Given the description of an element on the screen output the (x, y) to click on. 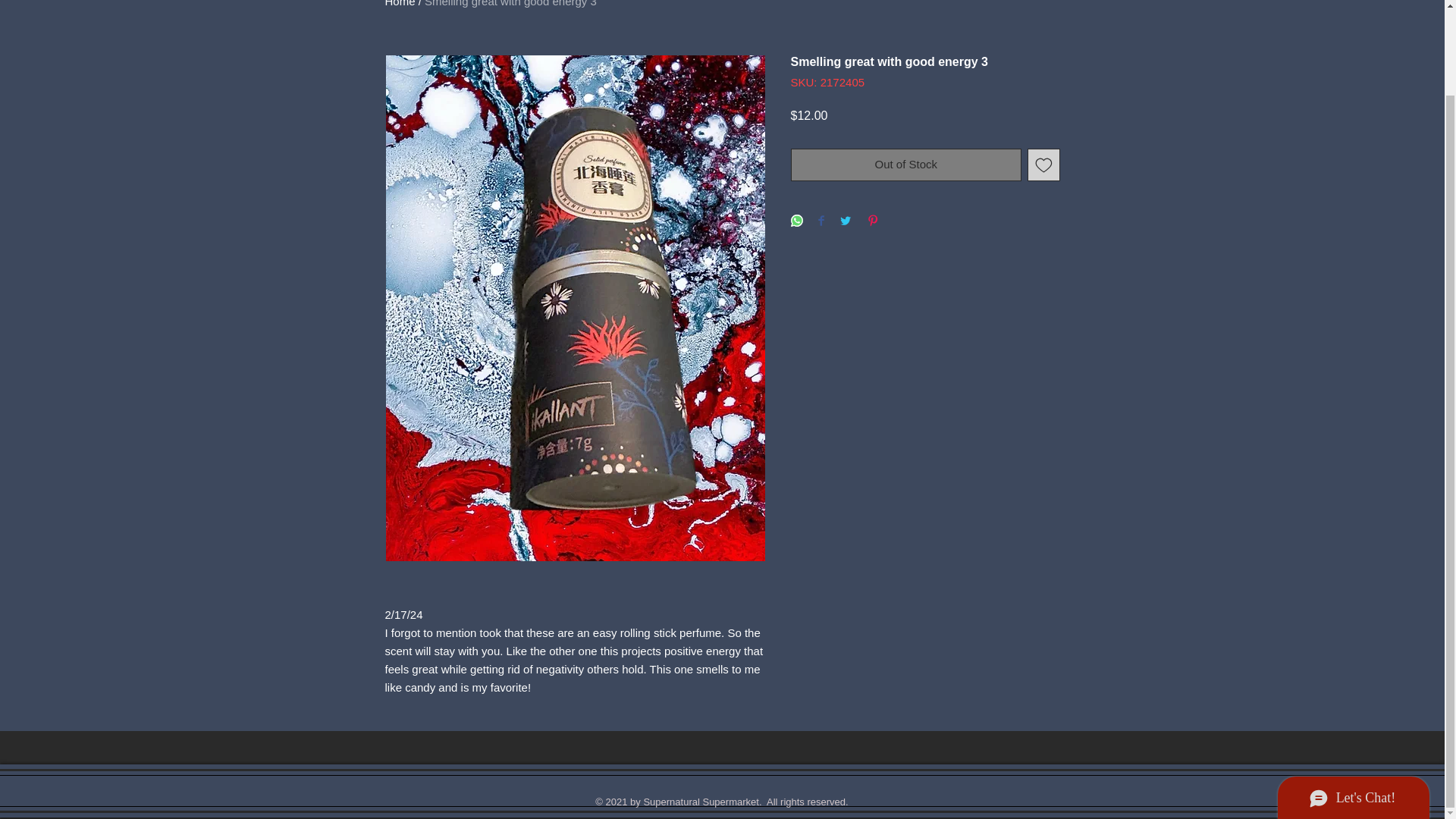
Home (399, 3)
Smelling great with good energy 3 (510, 3)
Out of Stock (906, 164)
